Given the description of an element on the screen output the (x, y) to click on. 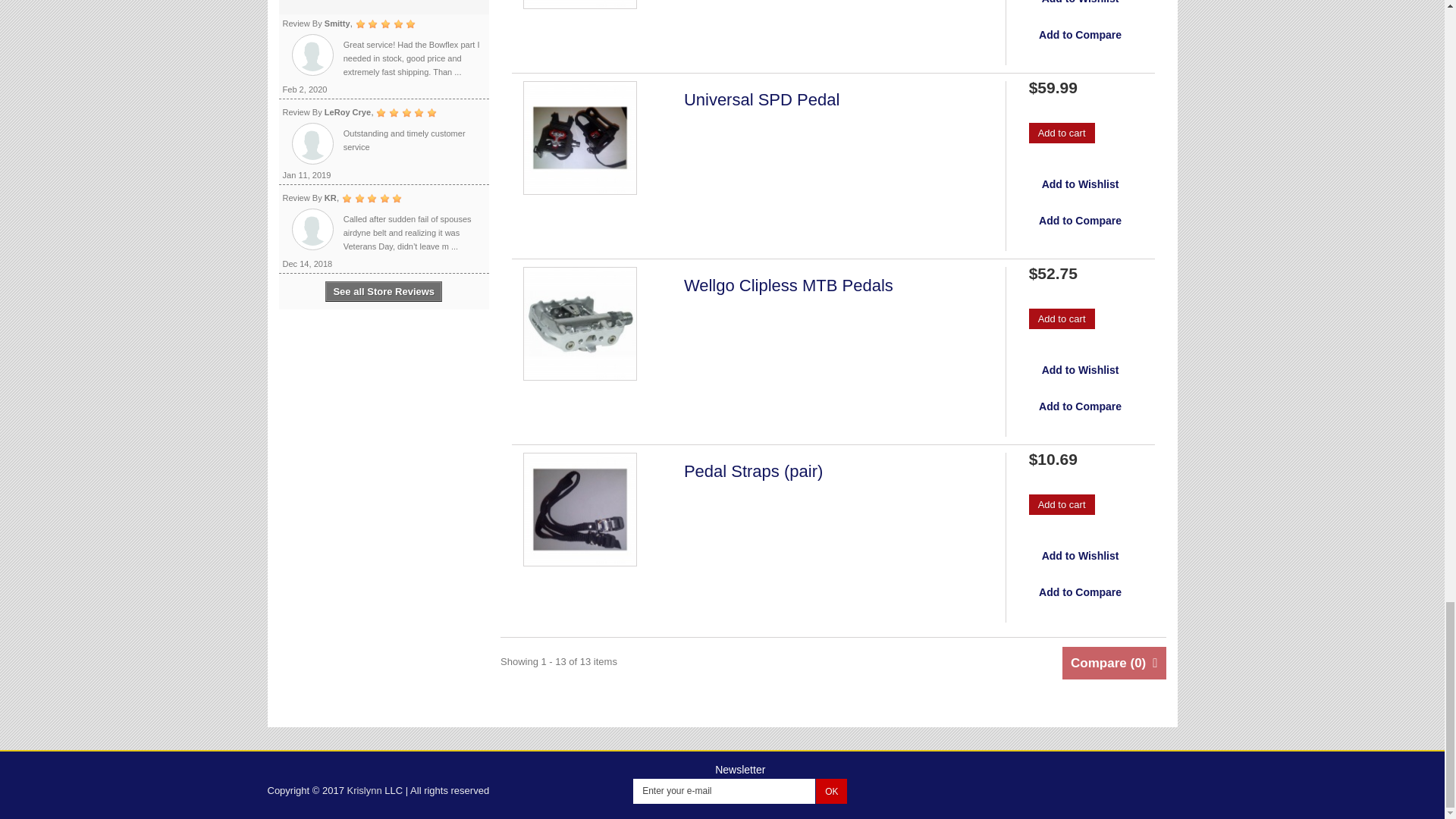
Enter your e-mail (724, 790)
